Given the description of an element on the screen output the (x, y) to click on. 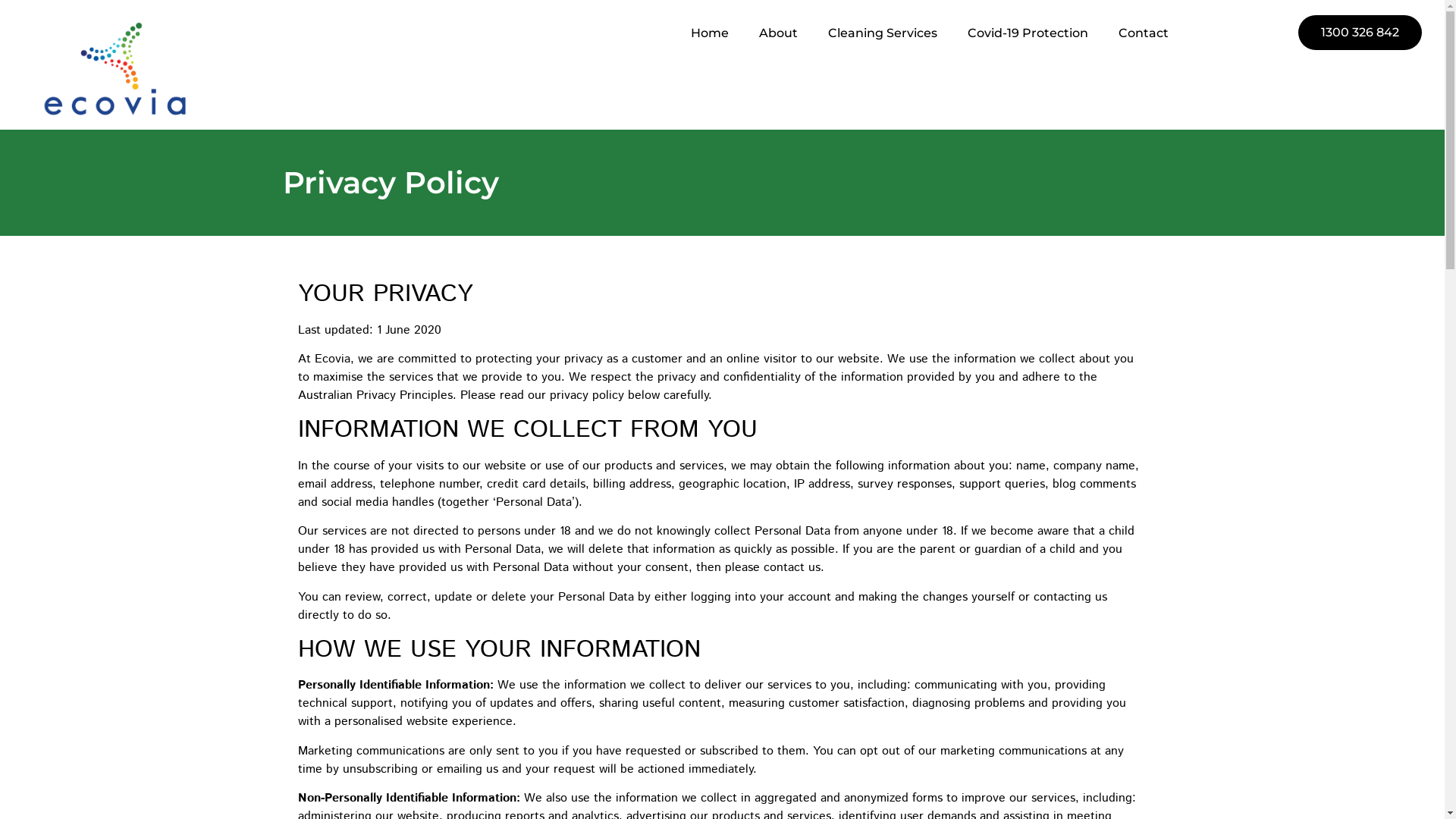
Cleaning Services Element type: text (882, 33)
Contact Element type: text (1143, 33)
About Element type: text (777, 33)
Covid-19 Protection Element type: text (1027, 33)
1300 326 842 Element type: text (1359, 32)
Home Element type: text (709, 33)
